Given the description of an element on the screen output the (x, y) to click on. 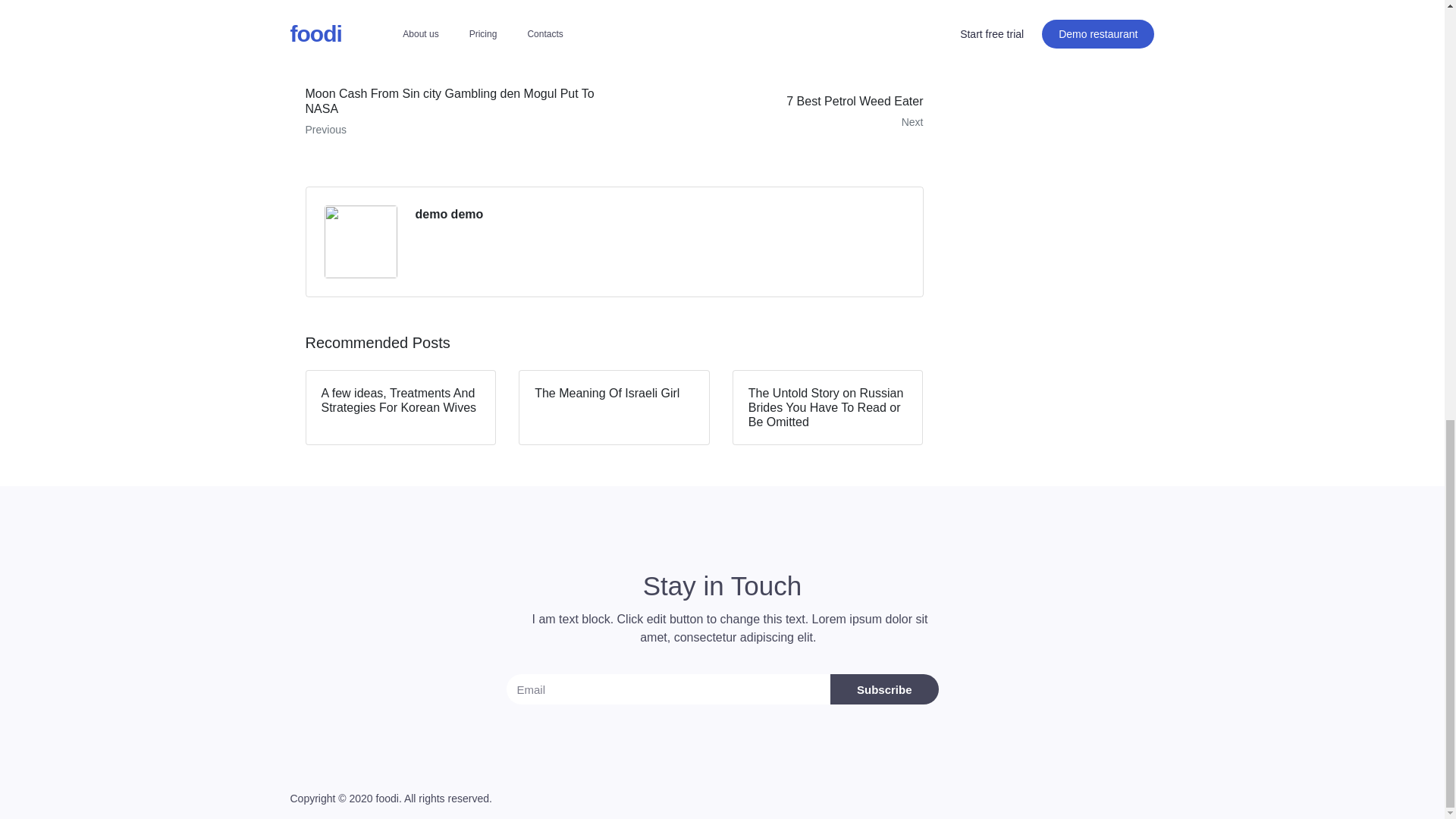
demo demo (448, 214)
Facebook (350, 16)
Moon Cash From Sin city Gambling den Mogul Put To NASA (454, 111)
7 Best Petrol Weed Eater (774, 111)
A few ideas, Treatments And Strategies For Korean Wives (400, 407)
Subscribe (884, 689)
Twitter (440, 16)
The Meaning Of Israeli Girl (614, 407)
